Given the description of an element on the screen output the (x, y) to click on. 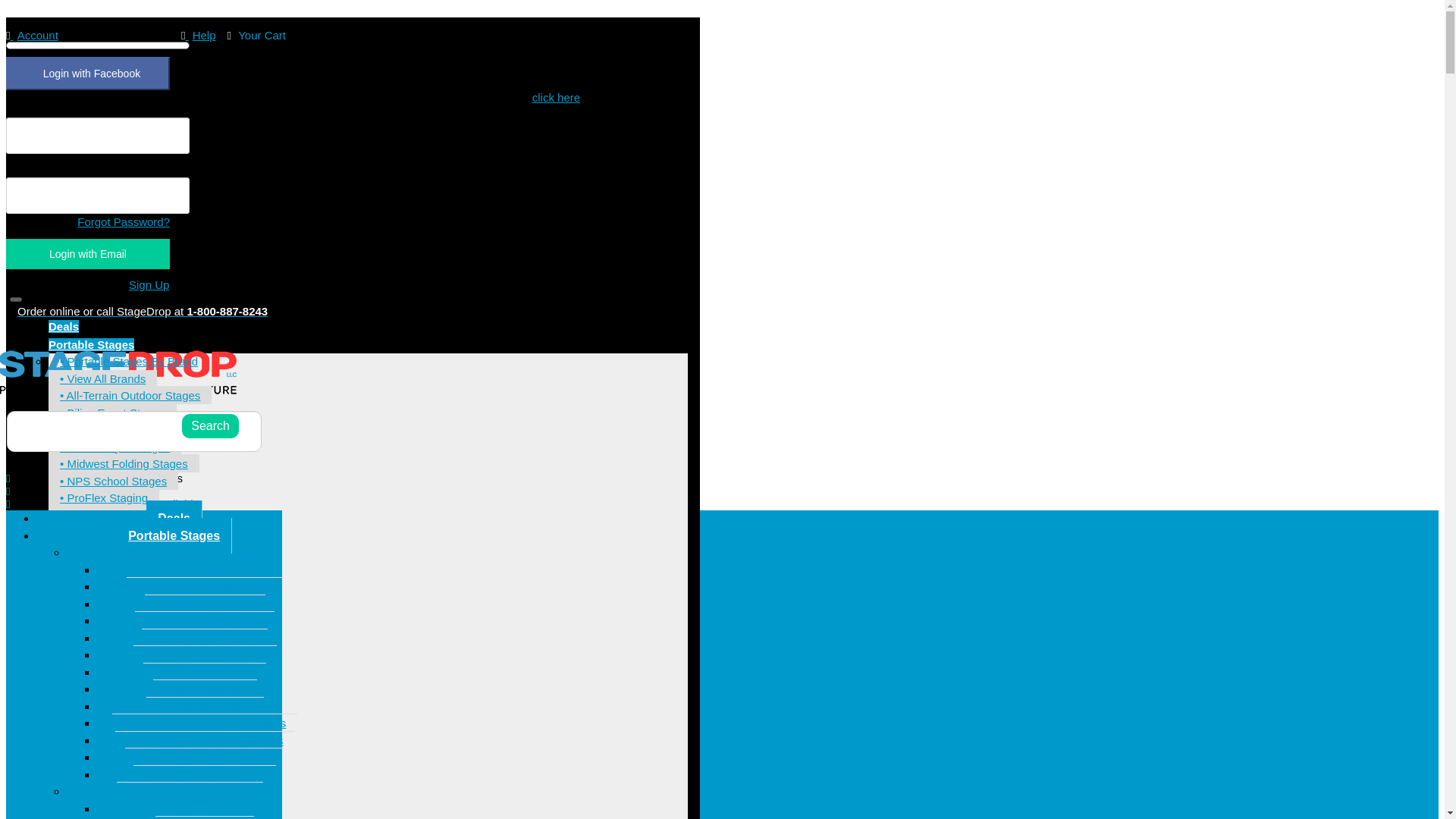
Help with Cookies (555, 97)
Login with Facebook (87, 73)
Search (210, 426)
Forgot Password? (123, 221)
Your Cart (256, 34)
Login with Email (87, 253)
Deals (63, 326)
Order online or call StageDrop at 1-800-887-8243 (142, 310)
Help (197, 34)
Sign Up (148, 283)
Login with Email (87, 253)
Portable Stages (90, 344)
Account (31, 34)
click here (555, 97)
